Given the description of an element on the screen output the (x, y) to click on. 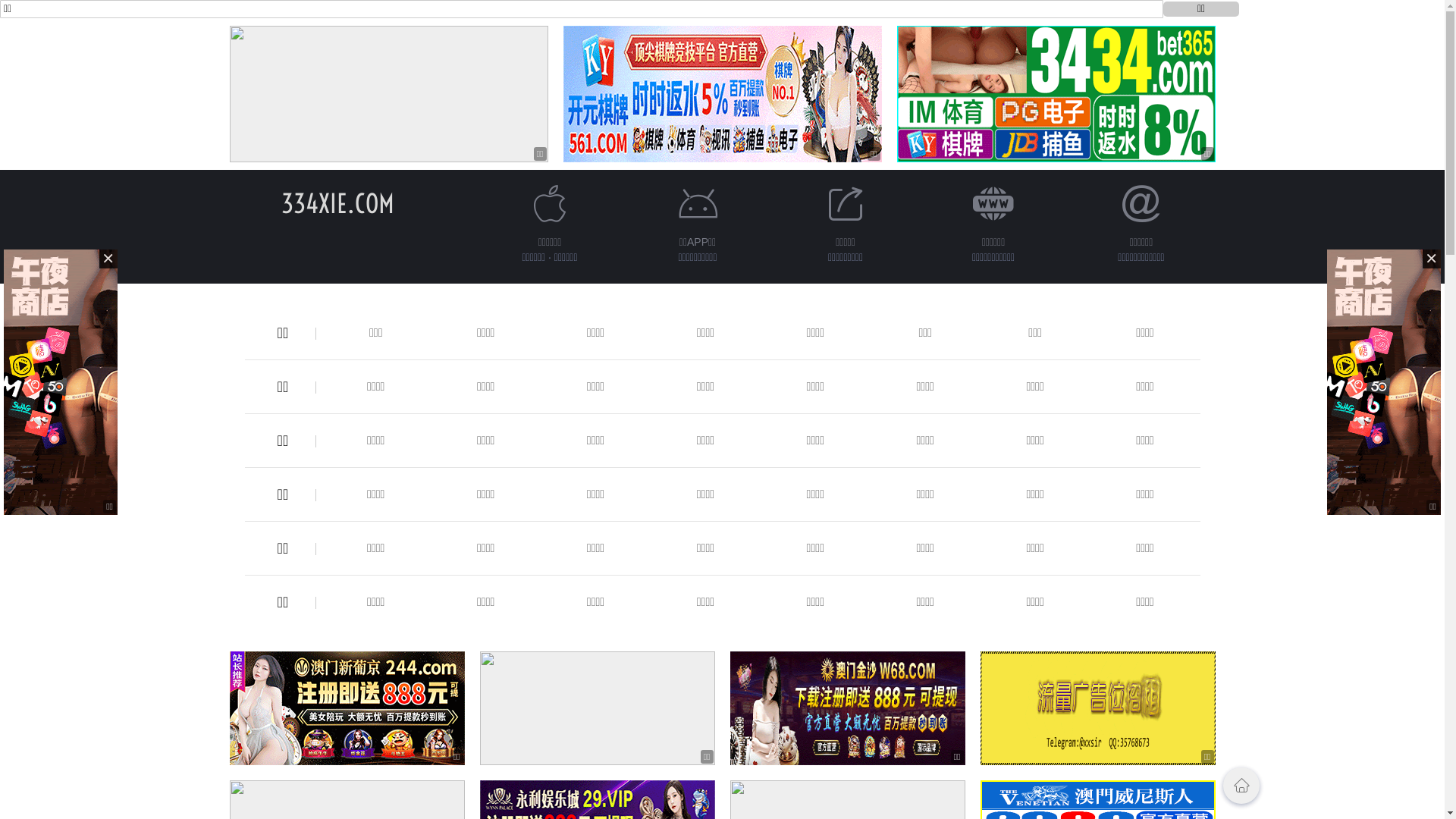
334XIE.COM Element type: text (337, 203)
